Given the description of an element on the screen output the (x, y) to click on. 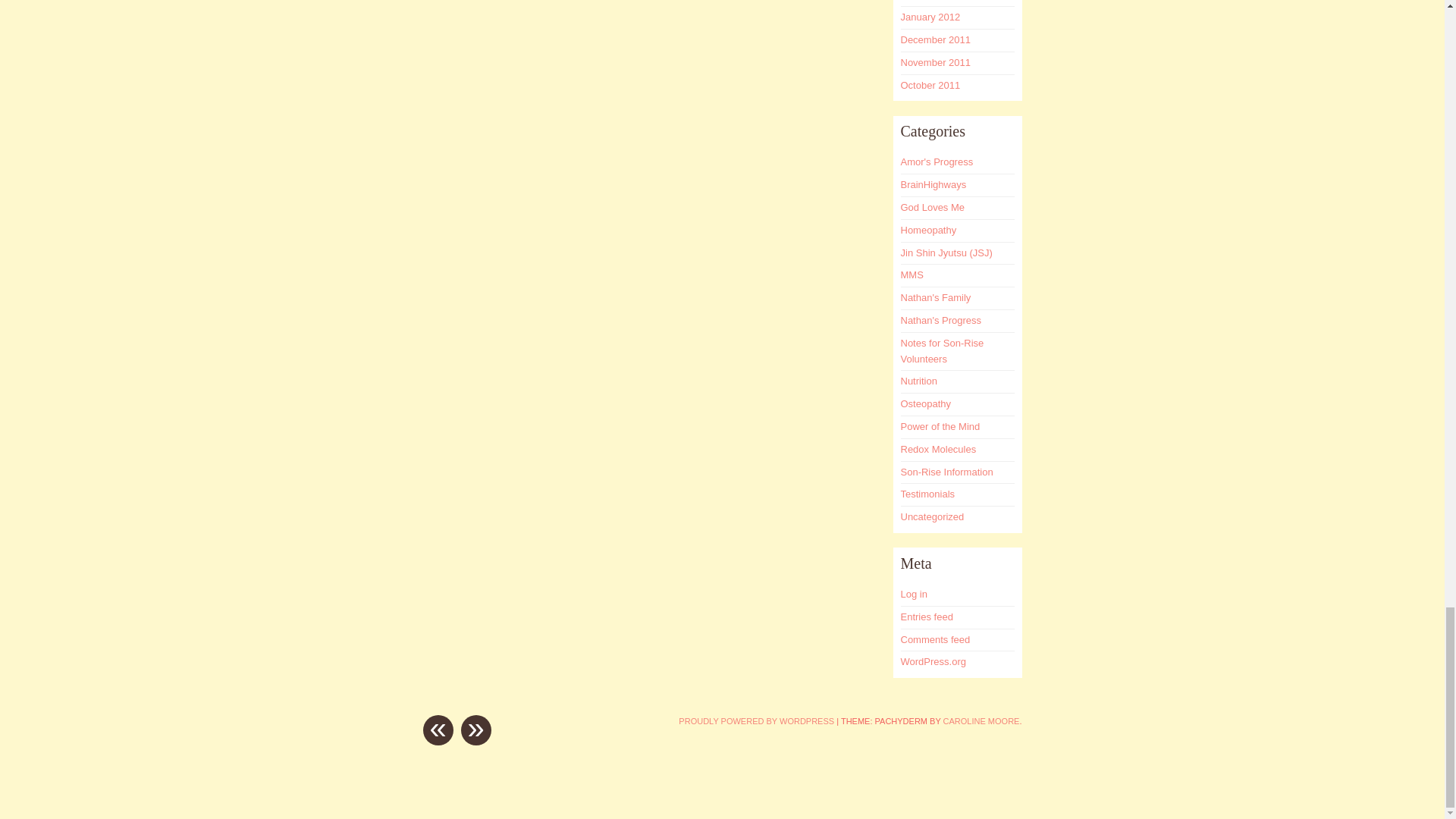
A Semantic Personal Publishing Platform (756, 720)
